Given the description of an element on the screen output the (x, y) to click on. 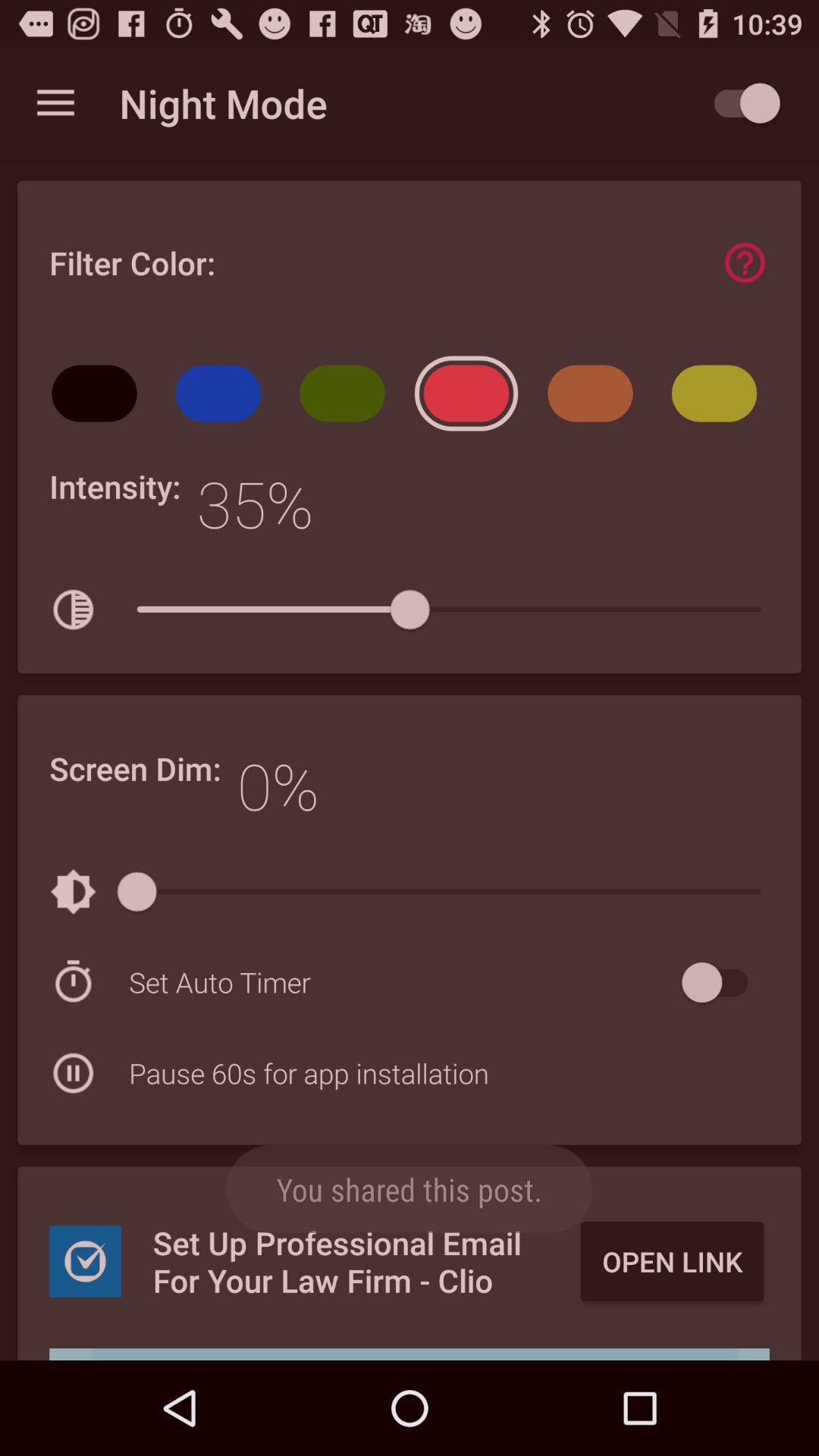
turn on auto toner (722, 982)
